Given the description of an element on the screen output the (x, y) to click on. 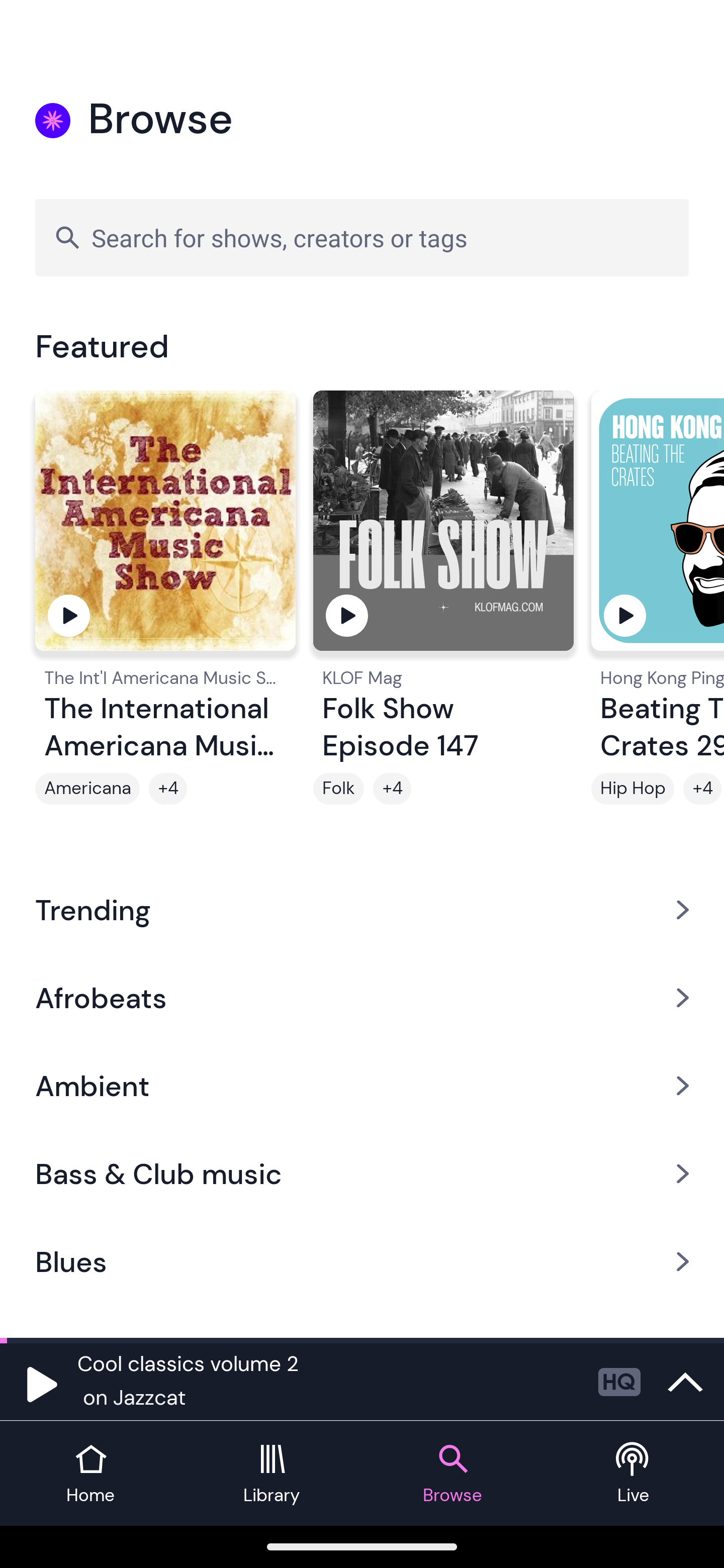
Search for shows, creators or tags (361, 237)
Americana (87, 788)
Folk (338, 788)
Hip Hop (632, 788)
Trending (361, 909)
Afrobeats (361, 997)
Ambient (361, 1085)
Bass & Club music (361, 1174)
Blues (361, 1262)
Home tab Home (90, 1473)
Library tab Library (271, 1473)
Browse tab Browse (452, 1473)
Live tab Live (633, 1473)
